Given the description of an element on the screen output the (x, y) to click on. 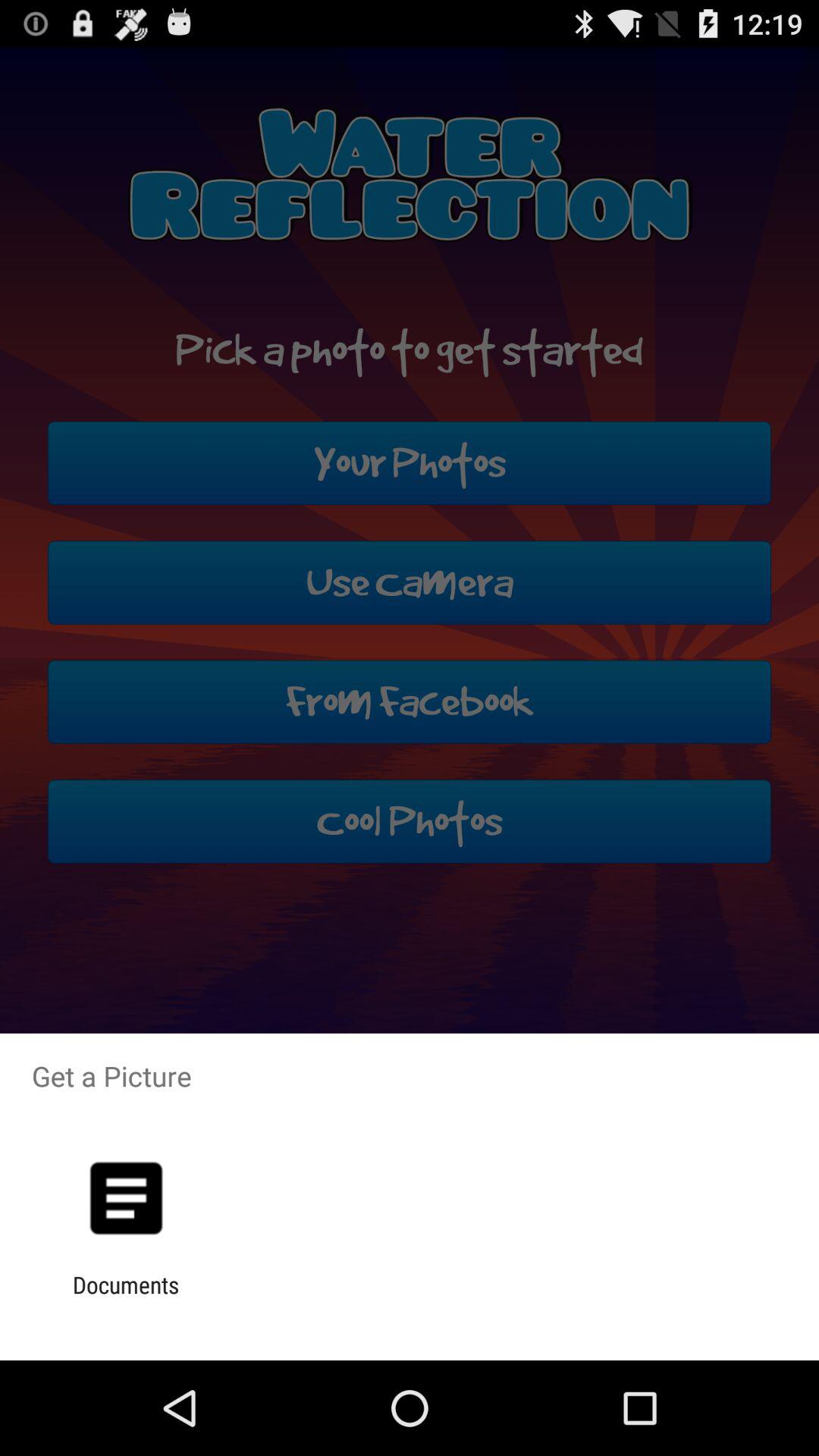
open documents item (125, 1298)
